Given the description of an element on the screen output the (x, y) to click on. 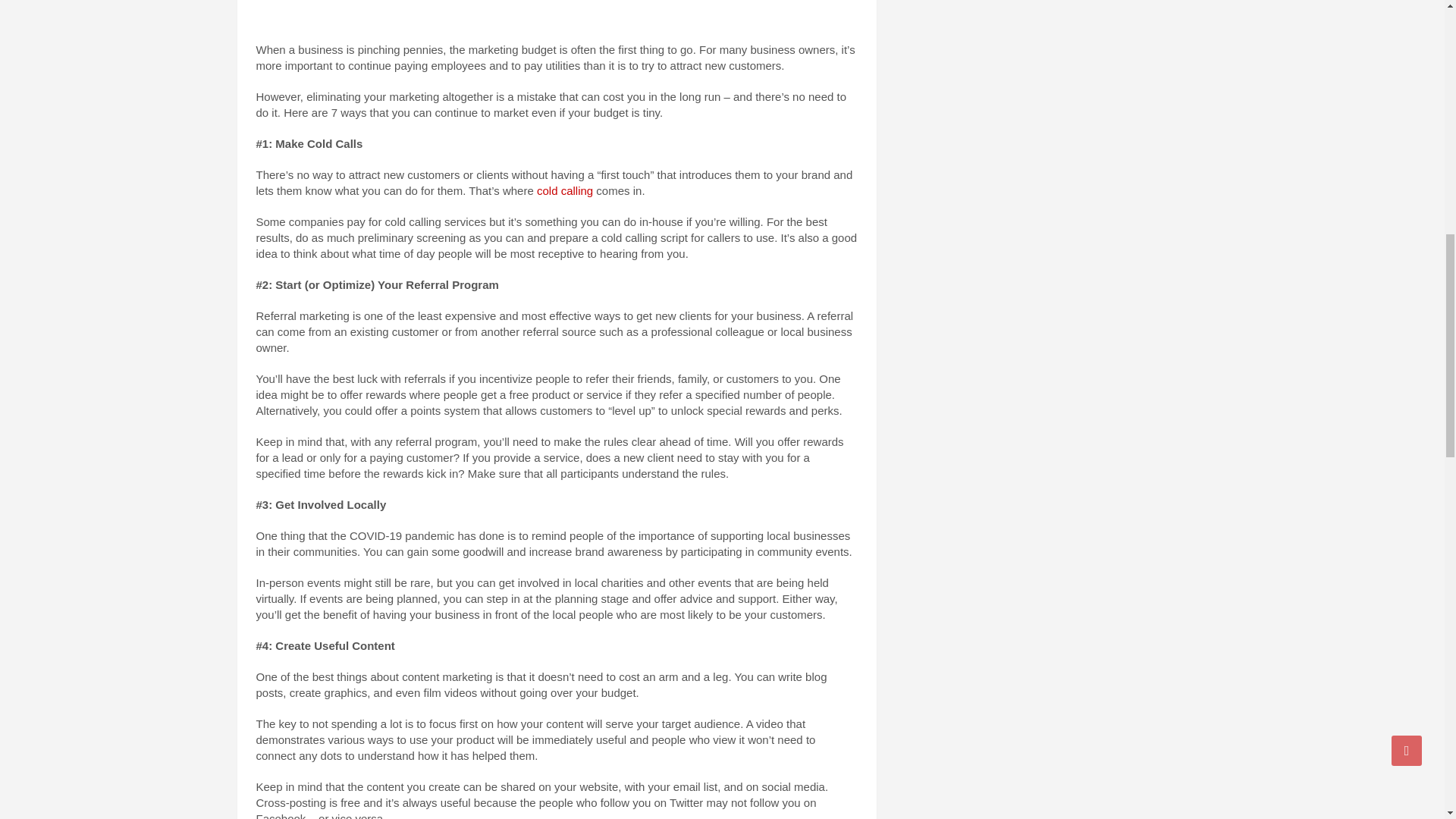
cold calling (564, 190)
